Given the description of an element on the screen output the (x, y) to click on. 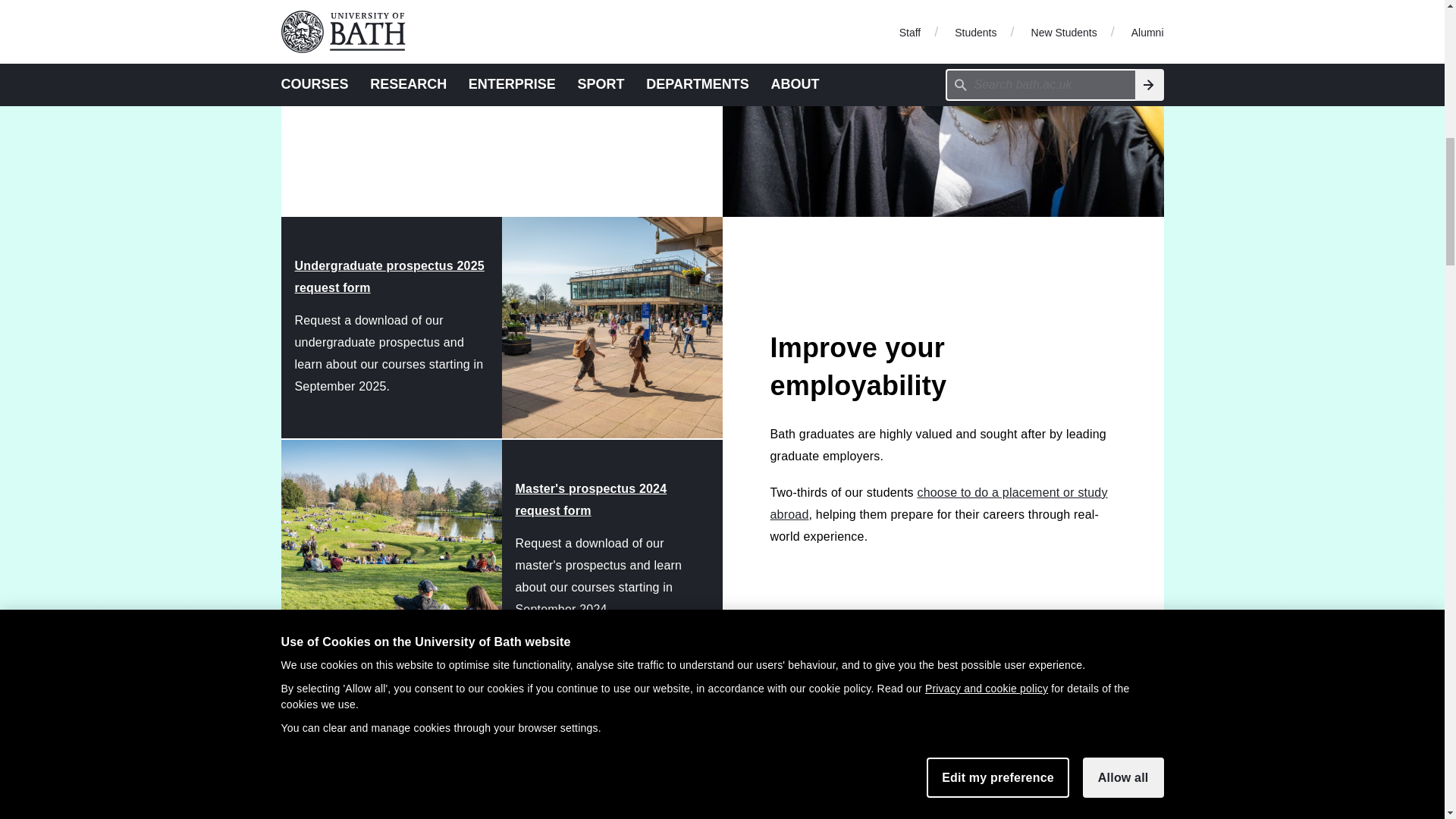
ranked highly (524, 72)
choose to do a placement or study abroad (939, 503)
